Given the description of an element on the screen output the (x, y) to click on. 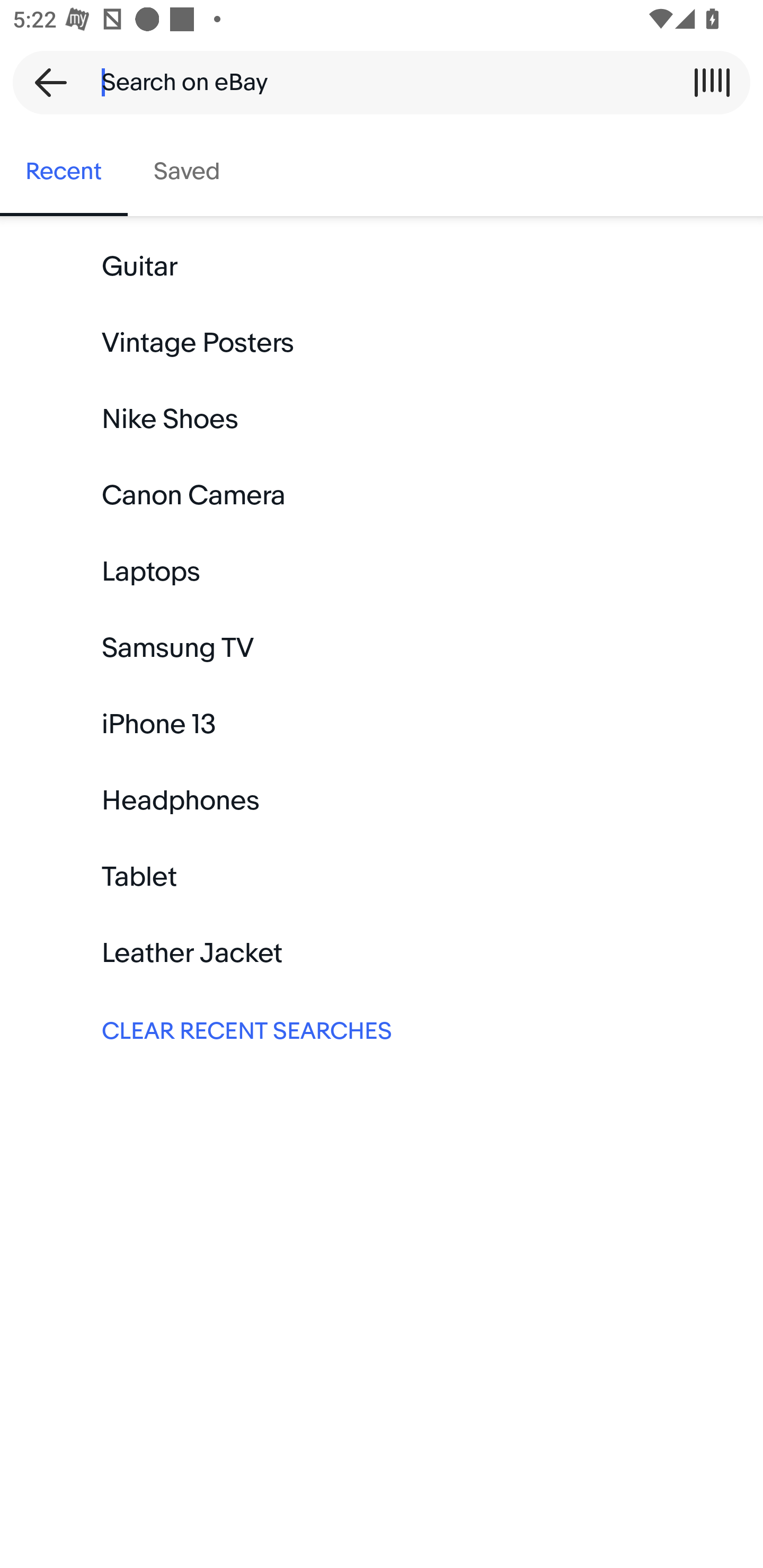
Back (44, 82)
Scan a barcode (711, 82)
Search on eBay (375, 82)
Saved, tab 2 of 2 Saved (186, 171)
Guitar Keyword search Guitar: (381, 266)
Vintage Posters Keyword search Vintage Posters: (381, 343)
Nike Shoes Keyword search Nike Shoes: (381, 419)
Canon Camera Keyword search Canon Camera: (381, 495)
Laptops Keyword search Laptops: (381, 571)
Samsung TV Keyword search Samsung TV: (381, 647)
iPhone 13 Keyword search iPhone 13: (381, 724)
Headphones Keyword search Headphones: (381, 800)
Tablet Keyword search Tablet: (381, 876)
Leather Jacket Keyword search Leather Jacket: (381, 952)
CLEAR RECENT SEARCHES (381, 1028)
